Given the description of an element on the screen output the (x, y) to click on. 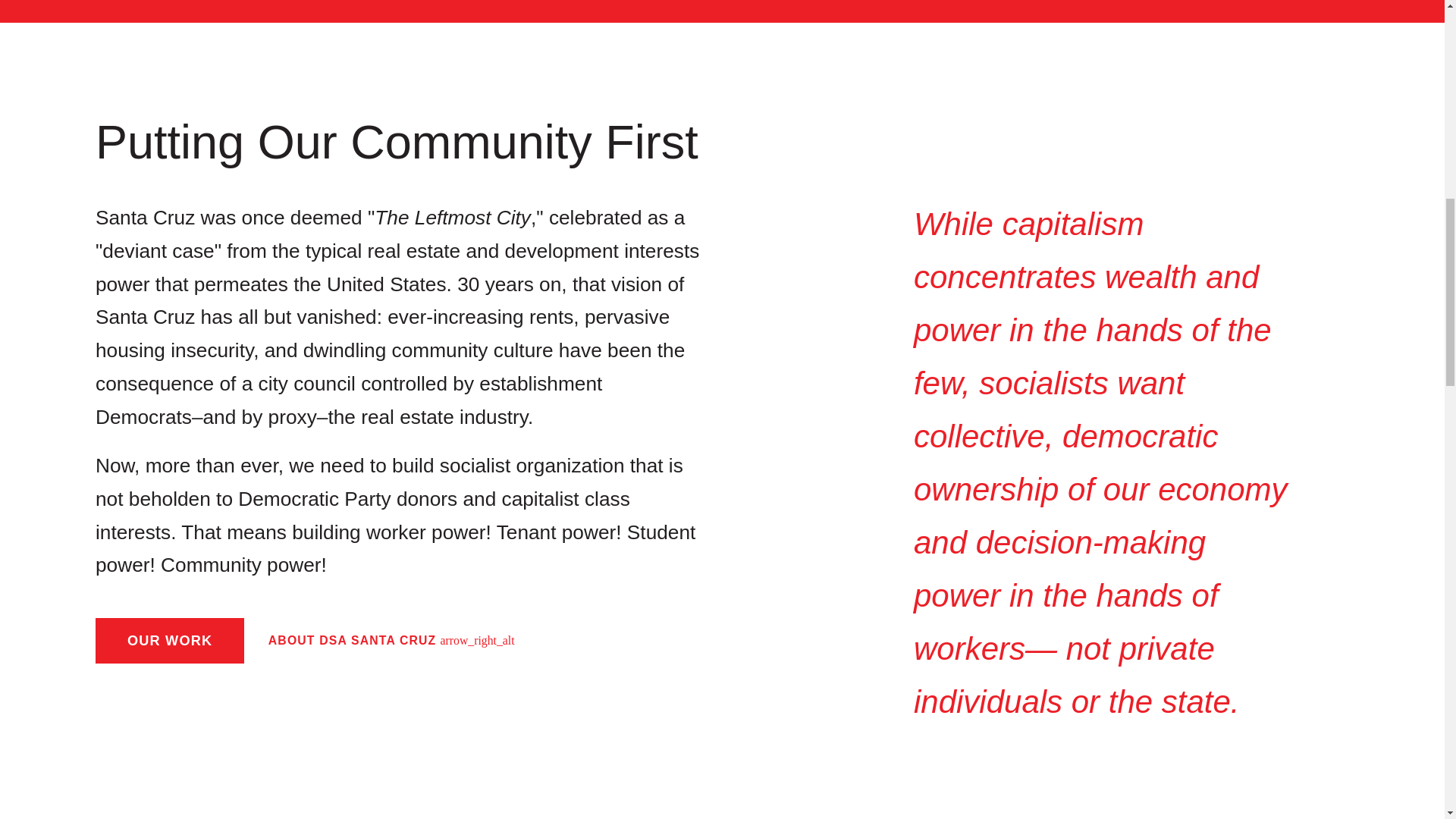
OUR WORK (170, 640)
